Given the description of an element on the screen output the (x, y) to click on. 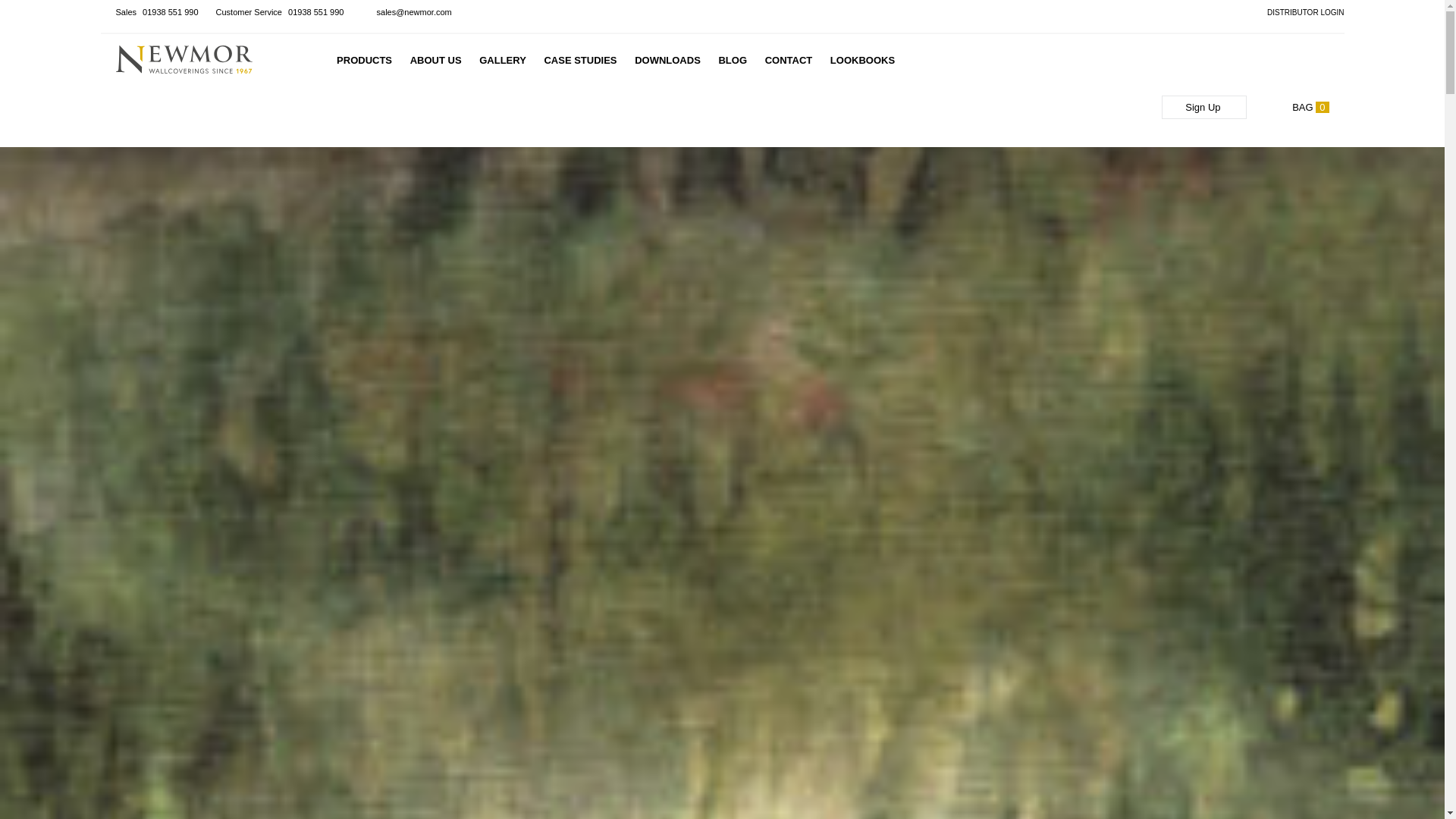
BLOG (731, 60)
PRODUCTS (363, 60)
GALLERY (502, 60)
DISTRIBUTOR LOGIN (1297, 12)
LOOKBOOKS (862, 60)
Search (806, 27)
